Given the description of an element on the screen output the (x, y) to click on. 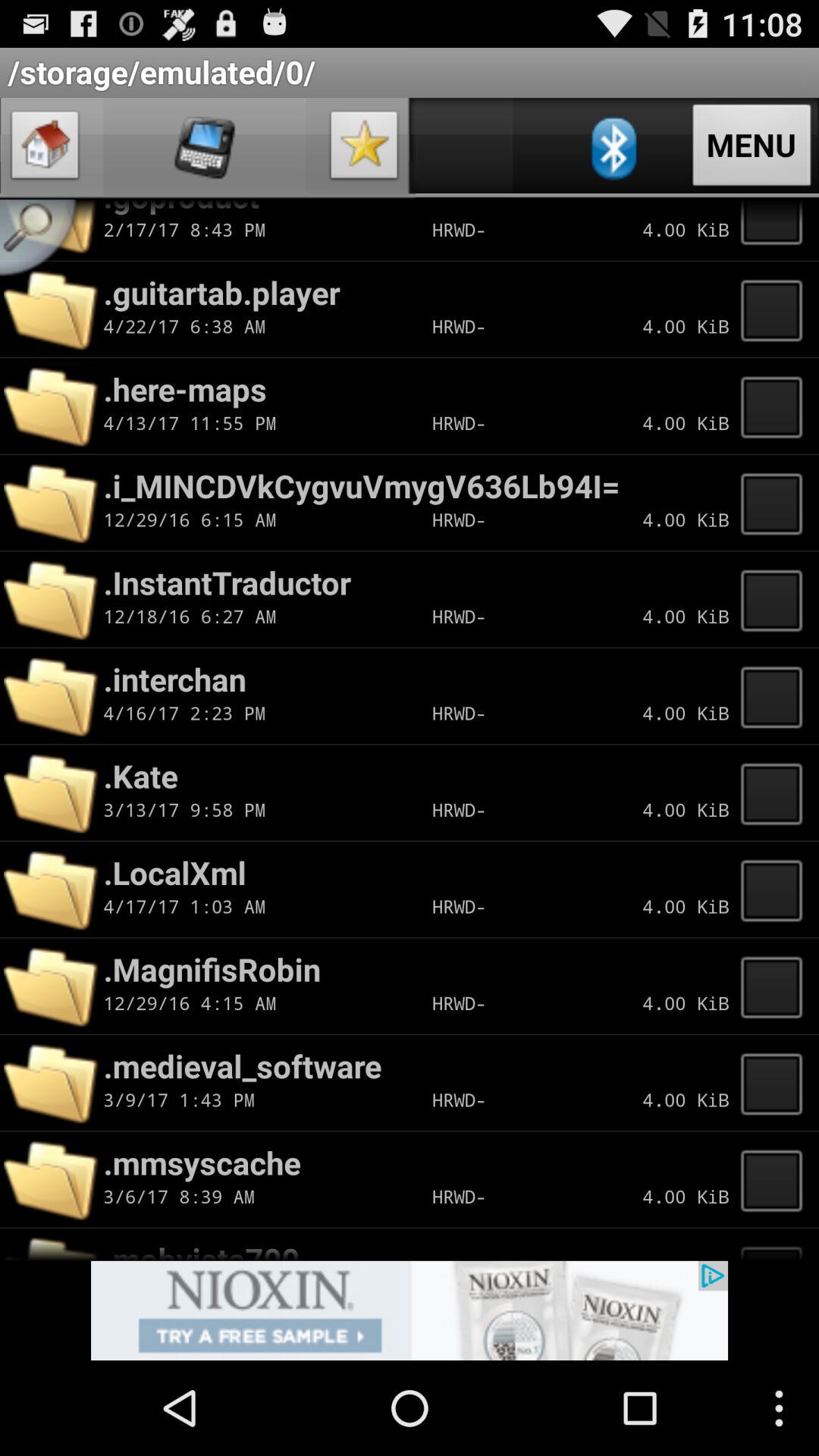
select page (776, 695)
